Given the description of an element on the screen output the (x, y) to click on. 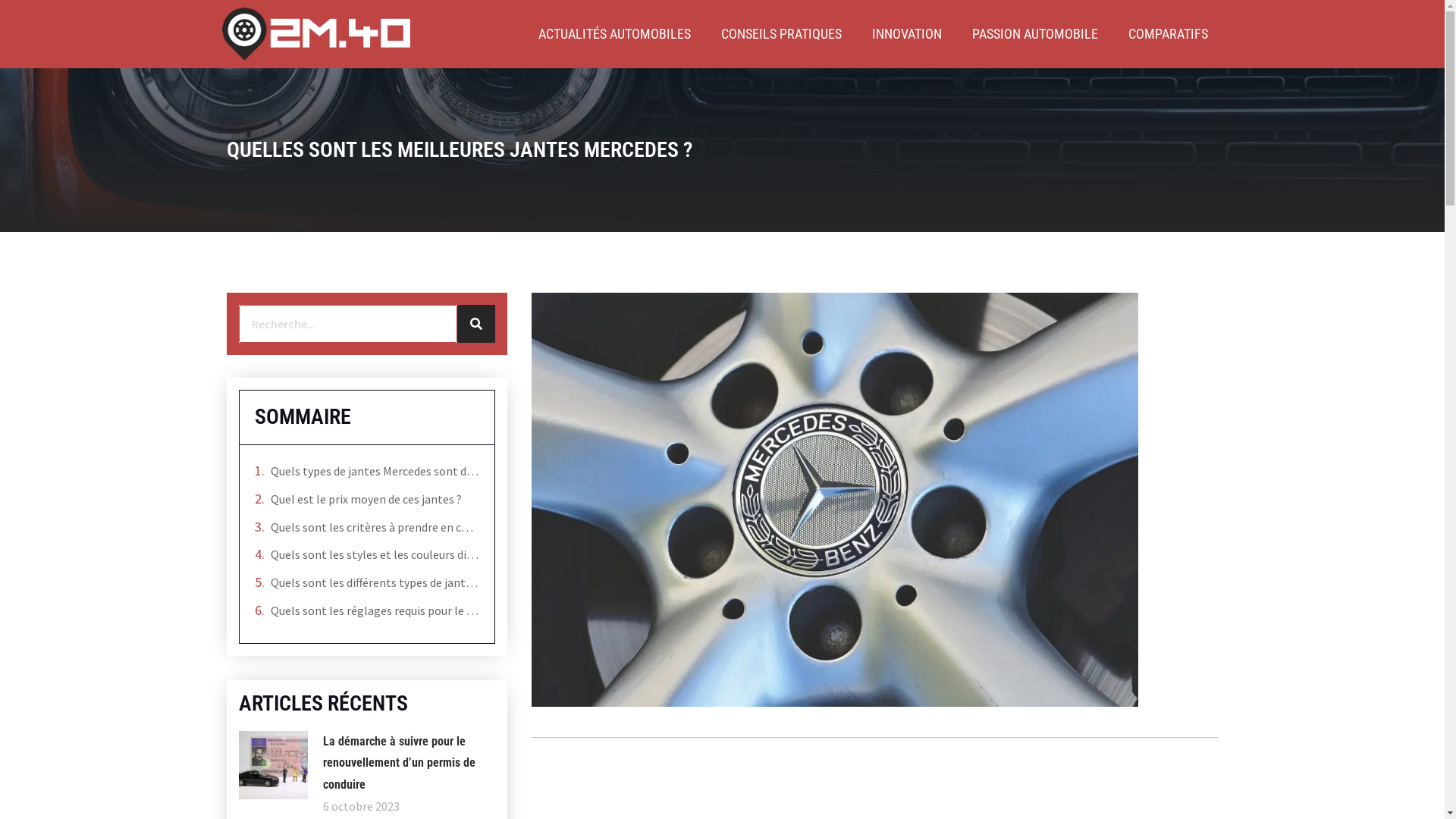
Quel est le prix moyen de ces jantes ? Element type: text (365, 499)
Quels sont les styles et les couleurs disponibles ? Element type: text (373, 554)
COMPARATIFS Element type: text (1168, 33)
INNOVATION Element type: text (906, 33)
CONSEILS PRATIQUES Element type: text (780, 33)
PASSION AUTOMOBILE Element type: text (1035, 33)
